Given the description of an element on the screen output the (x, y) to click on. 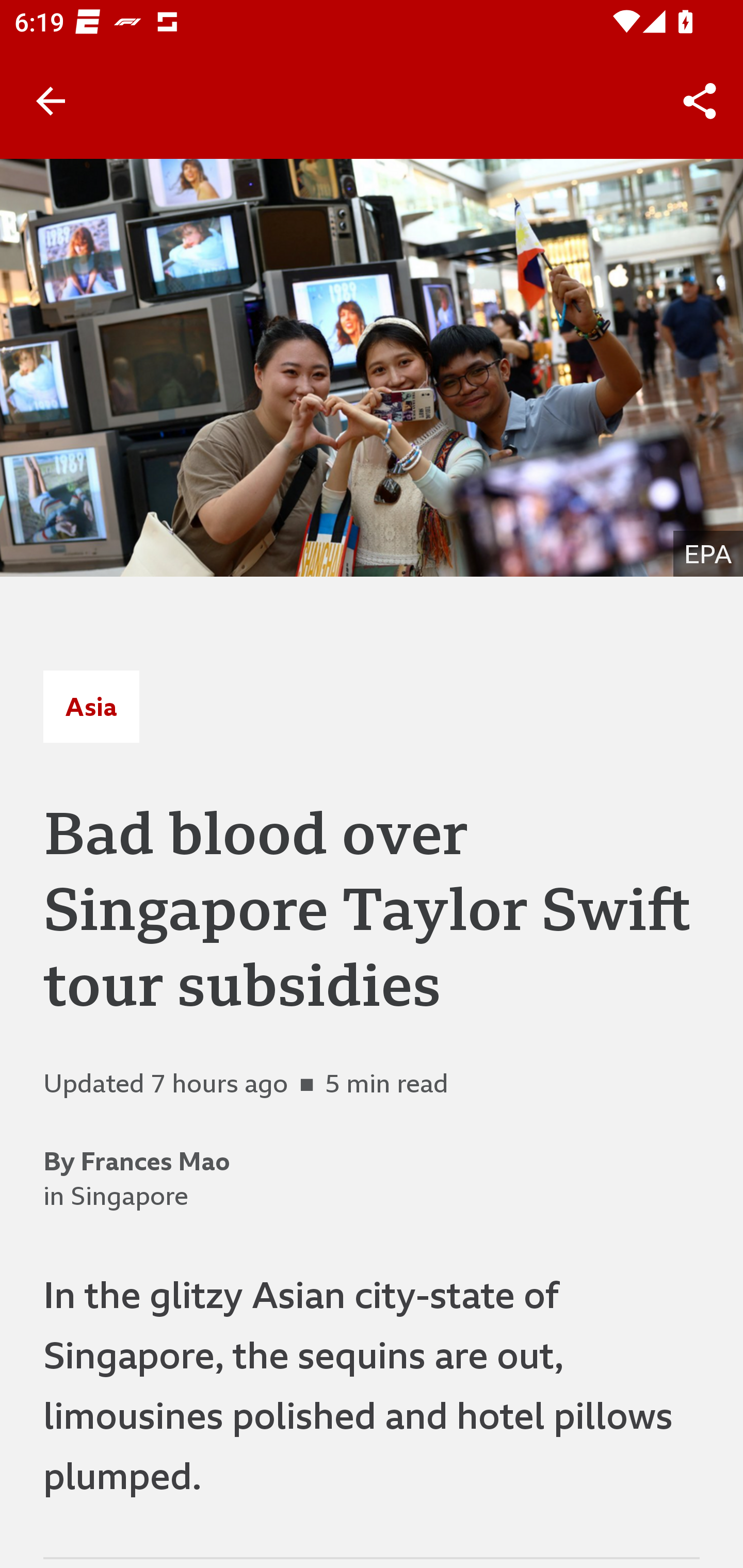
Back (50, 101)
Share (699, 101)
Asia (91, 706)
